Given the description of an element on the screen output the (x, y) to click on. 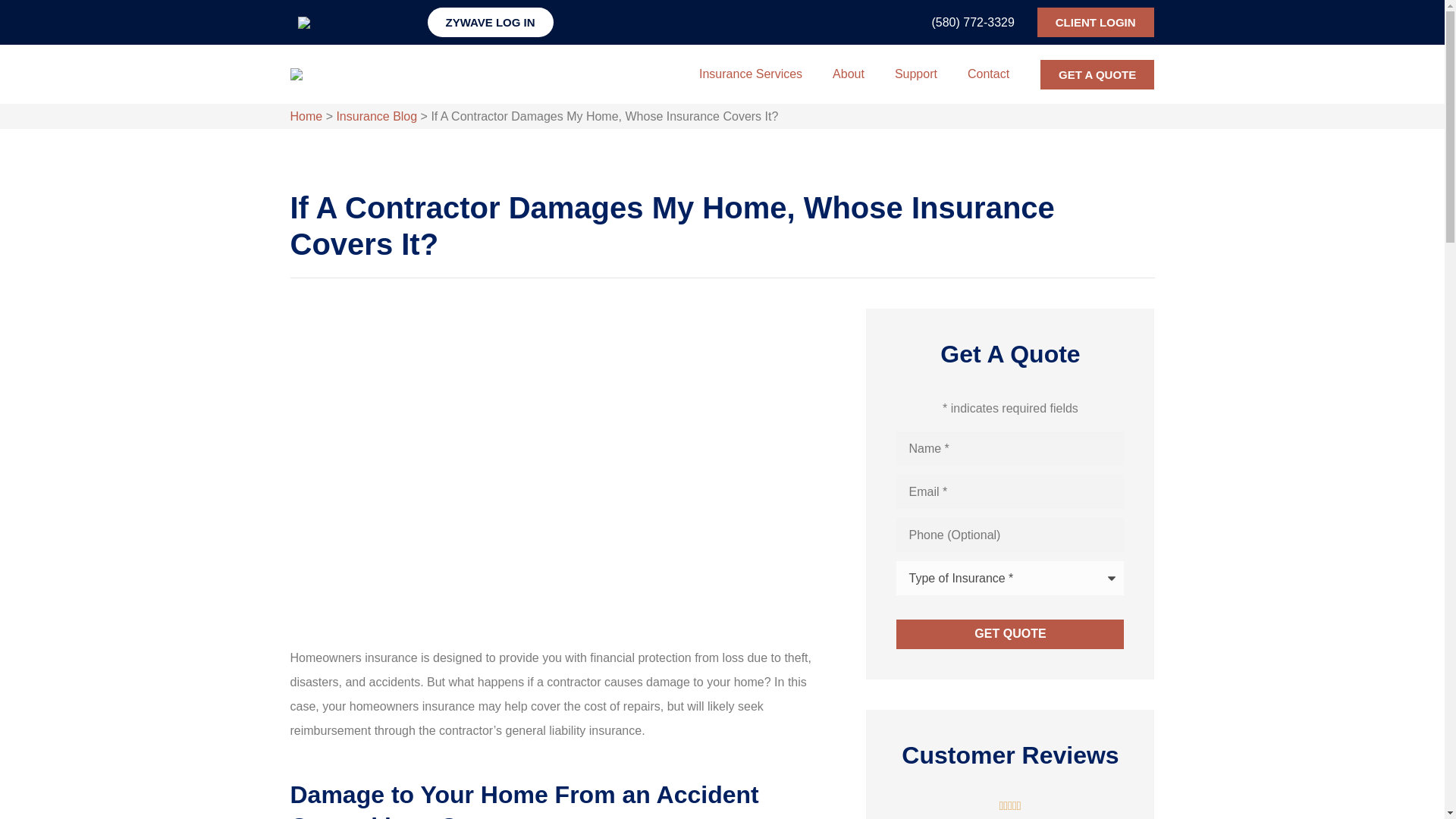
Get Quote (1010, 633)
CLIENT LOGIN (1095, 21)
Insurance Services (750, 74)
ZYWAVE LOG IN (490, 21)
About (847, 74)
